Given the description of an element on the screen output the (x, y) to click on. 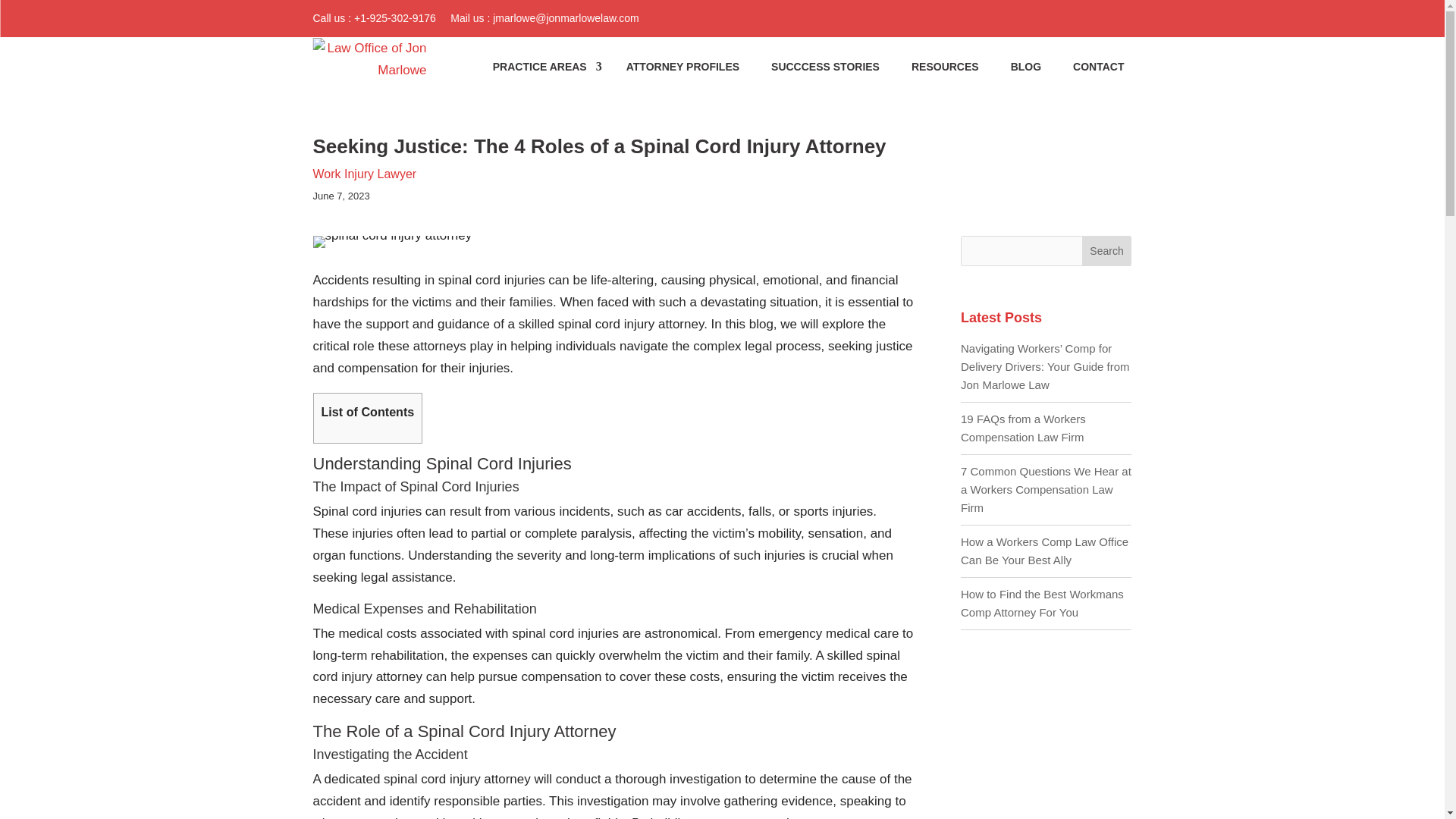
19 FAQs from a Workers Compensation Law Firm (1023, 427)
RESOURCES (945, 66)
How to Find the Best Workmans Comp Attorney For You (1042, 603)
CONTACT (1098, 66)
Work Injury Lawyer (364, 173)
Search (1106, 250)
PRACTICE AREAS (543, 66)
How a Workers Comp Law Office Can Be Your Best Ally (1044, 550)
ATTORNEY PROFILES (682, 66)
SUCCCESS STORIES (824, 66)
